Given the description of an element on the screen output the (x, y) to click on. 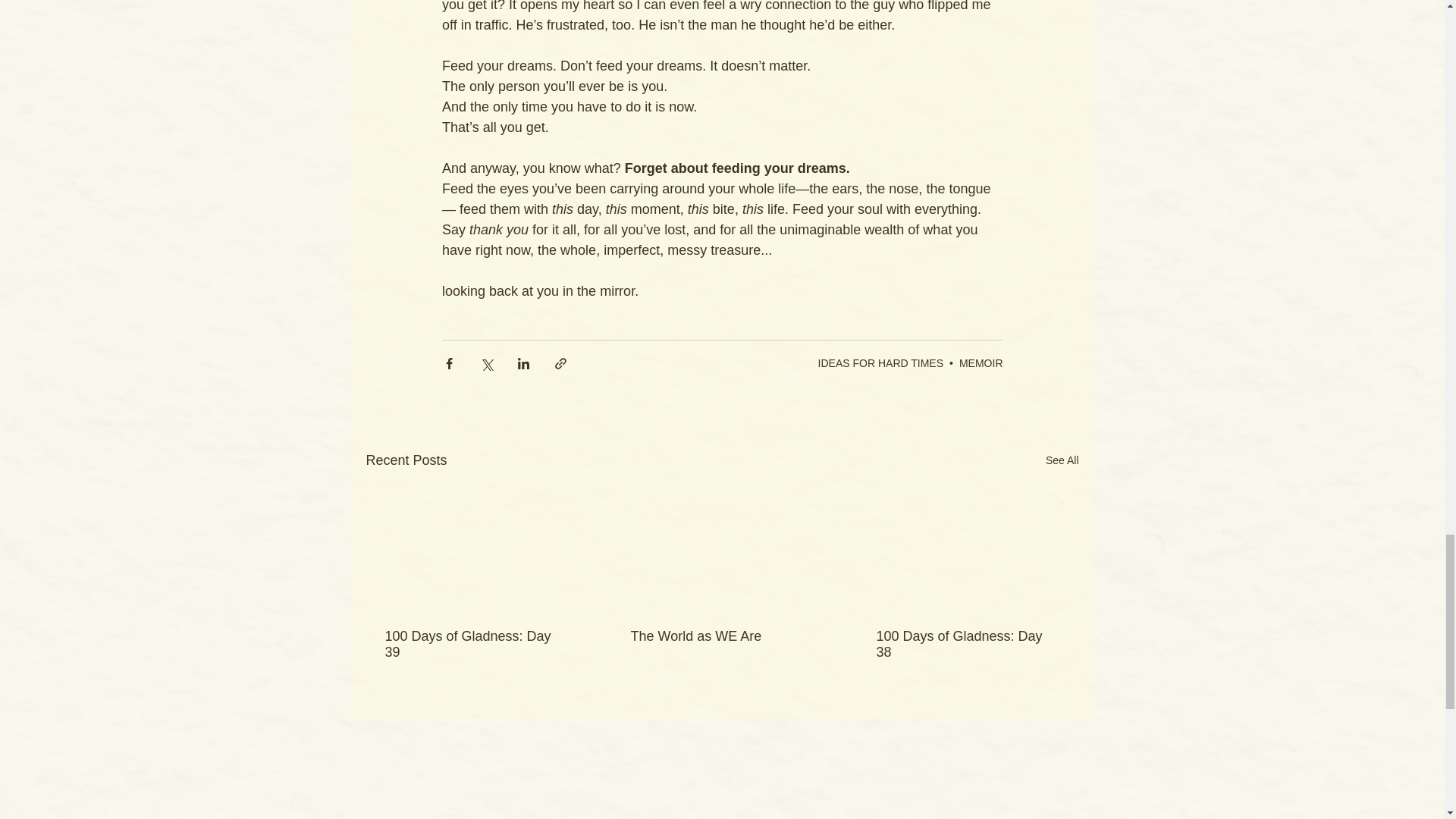
100 Days of Gladness: Day 38 (967, 644)
The World as WE Are (721, 636)
MEMOIR (981, 363)
IDEAS FOR HARD TIMES (880, 363)
100 Days of Gladness: Day 39 (476, 644)
See All (1061, 460)
